Given the description of an element on the screen output the (x, y) to click on. 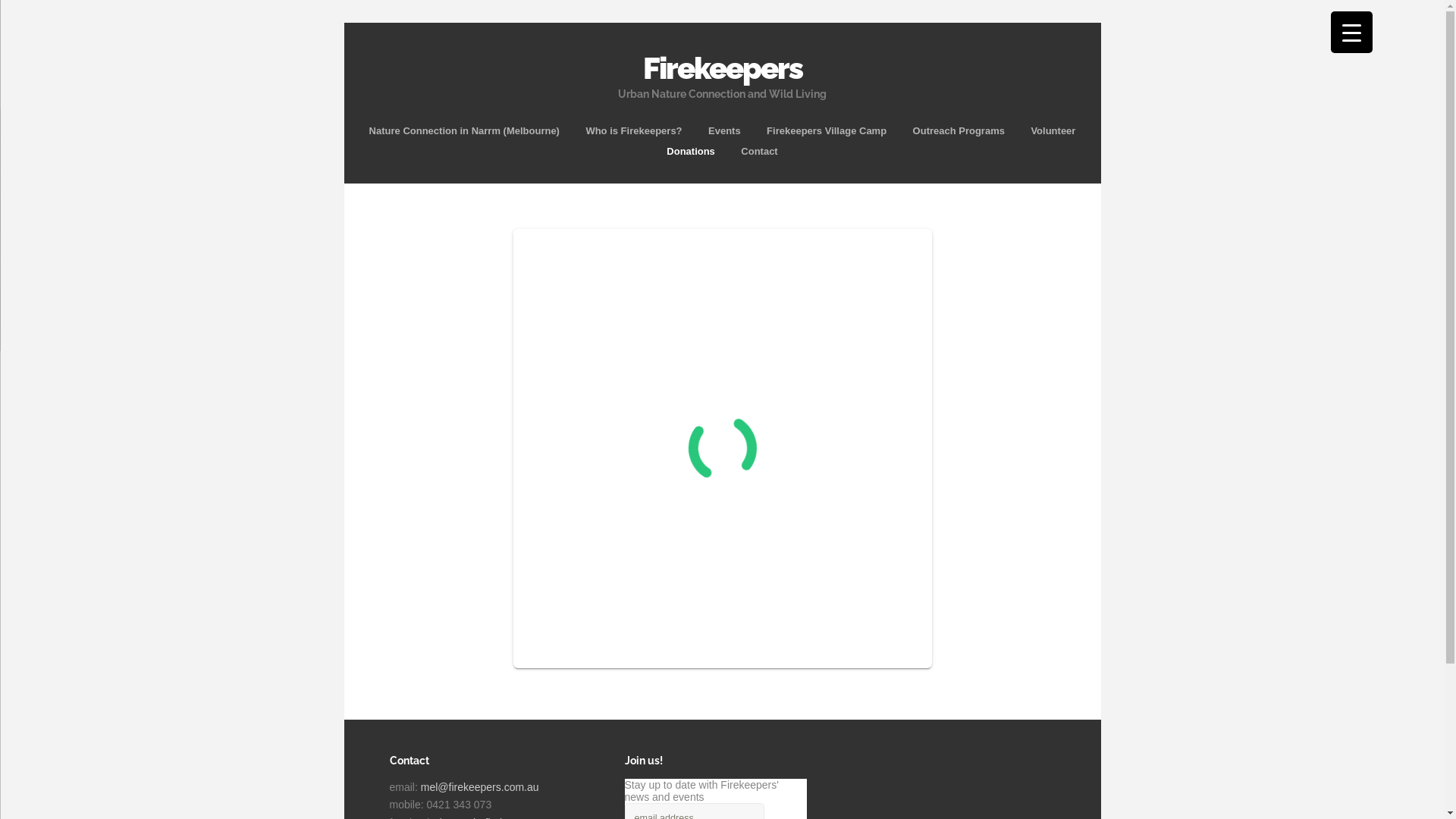
Contact Element type: text (758, 151)
Firekeepers
Urban Nature Connection and Wild Living Element type: text (722, 70)
Firekeepers Village Camp Element type: text (826, 130)
Outreach Programs Element type: text (958, 130)
Volunteer Element type: text (1052, 130)
Events Element type: text (724, 130)
mel@firekeepers.com.au Element type: text (479, 787)
Who is Firekeepers? Element type: text (633, 130)
Donations Element type: text (690, 151)
Nature Connection in Narrm (Melbourne) Element type: text (464, 130)
Skip to content Element type: text (721, 119)
